Given the description of an element on the screen output the (x, y) to click on. 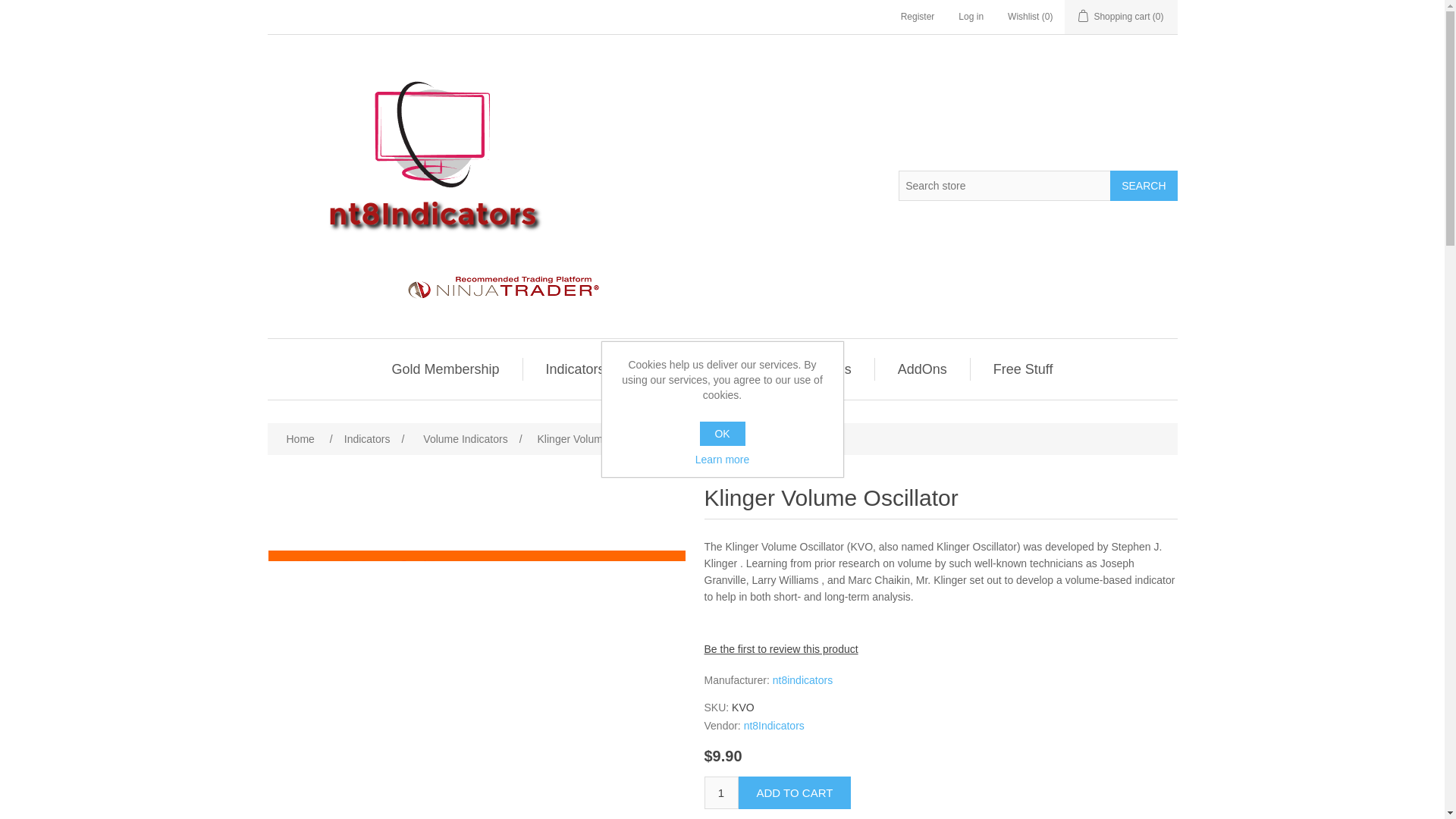
Picture of Klinger Volume Oscillator (476, 684)
Strategies (821, 368)
nt8indicators (802, 680)
PayPal (779, 815)
nt8Indicators (774, 725)
Free Stuff (1023, 368)
Indicators (367, 438)
Register (917, 17)
Home (299, 438)
SEARCH (1142, 184)
Indicators (575, 368)
AddOns (922, 368)
ADD TO CART (794, 792)
Gold Membership (445, 368)
Volume Indicators (465, 438)
